Given the description of an element on the screen output the (x, y) to click on. 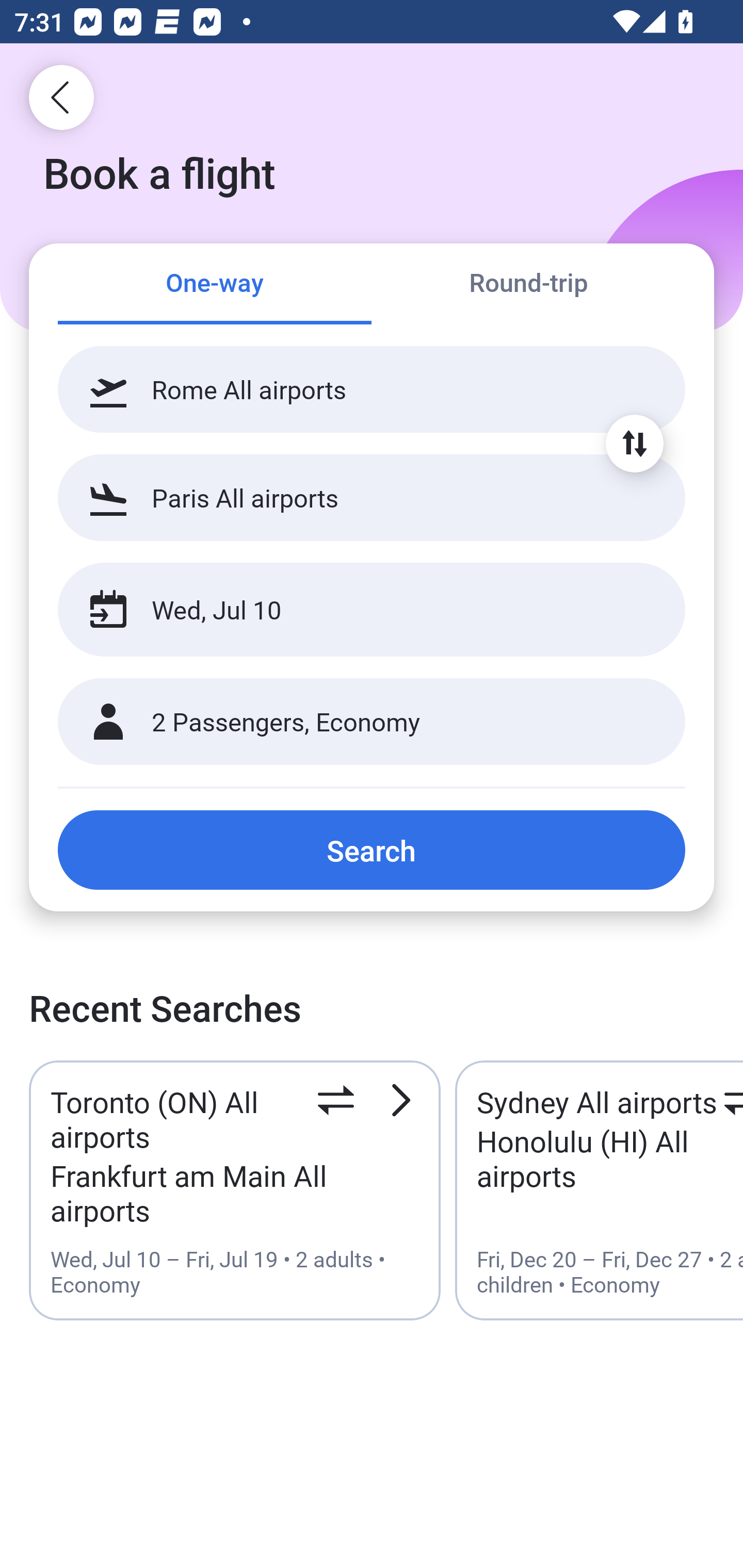
Round-trip (528, 284)
Rome All airports (371, 389)
Paris All airports (371, 497)
Wed, Jul 10 (349, 609)
2 Passengers, Economy (371, 721)
Search (371, 849)
